Given the description of an element on the screen output the (x, y) to click on. 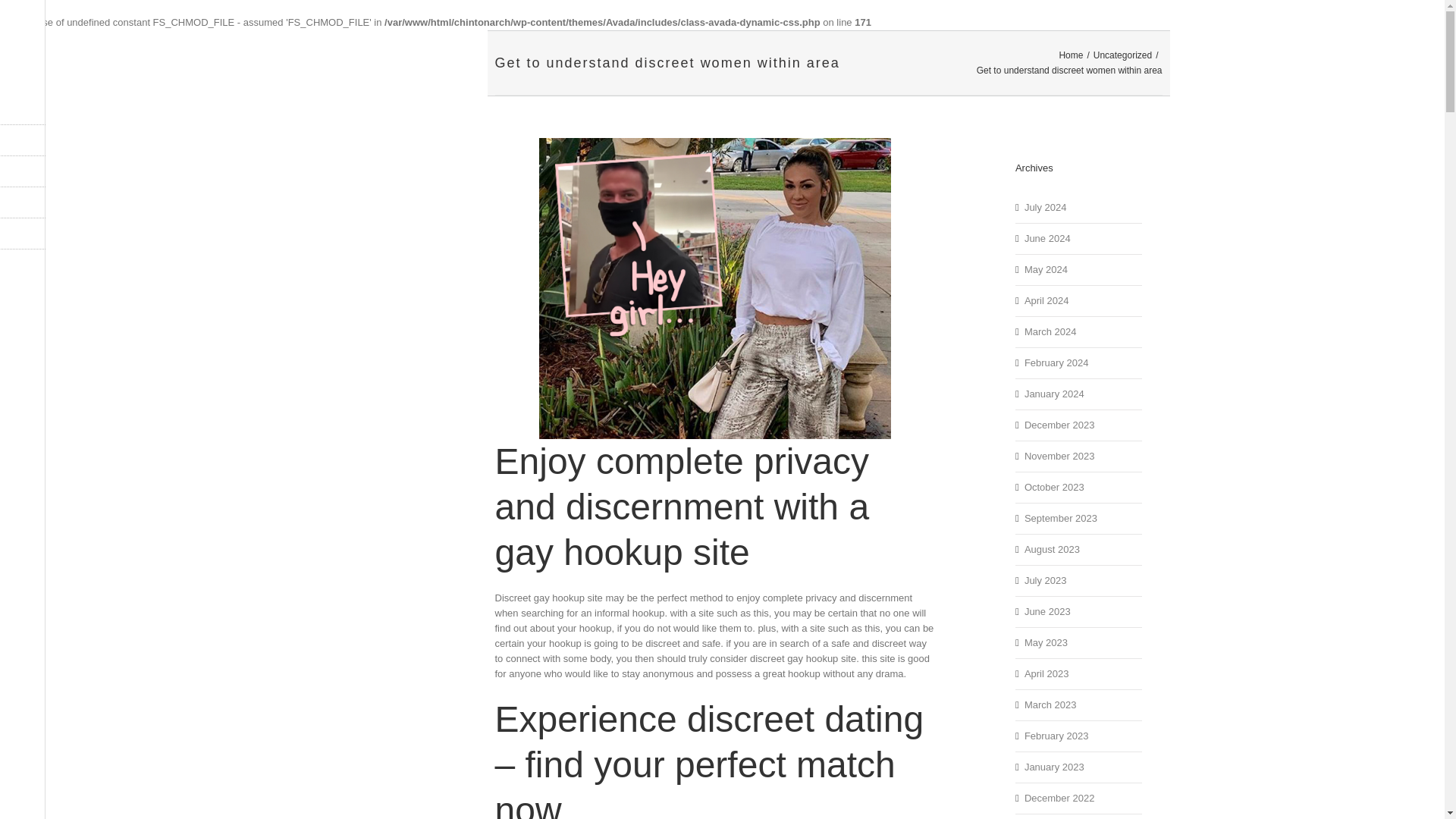
June 2024 (1047, 238)
July 2024 (1046, 206)
Uncategorized (1122, 54)
Home (1070, 54)
